Given the description of an element on the screen output the (x, y) to click on. 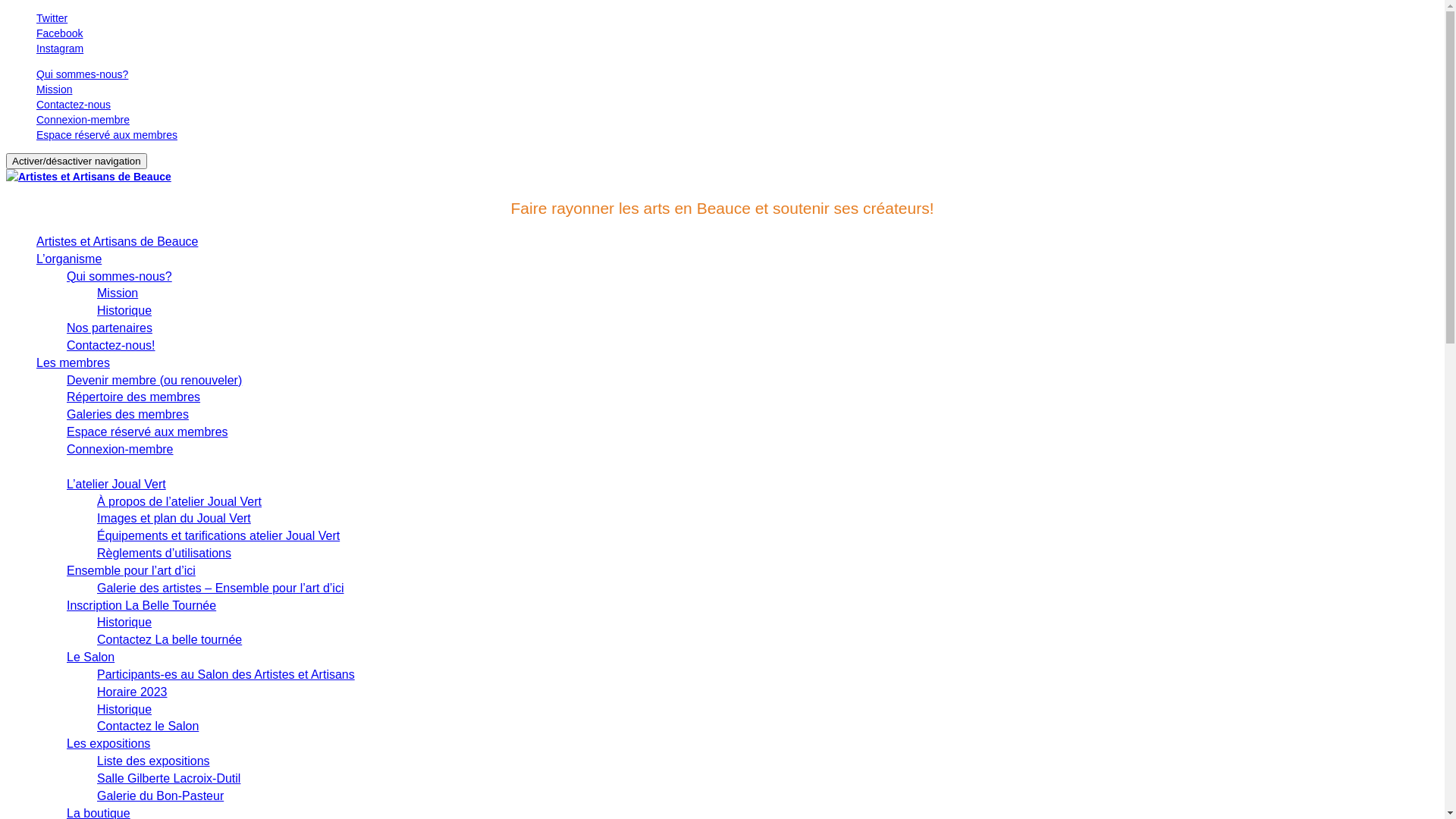
Horaire 2023 Element type: text (132, 691)
Connexion-membre Element type: text (119, 448)
Les membres Element type: text (72, 362)
Historique Element type: text (124, 708)
Liste des expositions Element type: text (153, 760)
Galeries des membres Element type: text (127, 413)
Artistes et Artisans de Beauce Element type: hover (88, 176)
Contactez le Salon Element type: text (147, 725)
Mission Element type: text (117, 292)
Contactez-nous Element type: text (73, 104)
Mission Element type: text (54, 89)
Nos partenaires Element type: text (109, 327)
Connexion-membre Element type: text (82, 119)
Contactez-nous! Element type: text (110, 344)
Twitter Element type: text (737, 17)
Historique Element type: text (124, 621)
Galerie du Bon-Pasteur Element type: text (160, 795)
Qui sommes-nous? Element type: text (82, 74)
Artistes et Artisans de Beauce Element type: text (116, 241)
Participants-es au Salon des Artistes et Artisans Element type: text (225, 674)
Instagram Element type: text (737, 48)
Qui sommes-nous? Element type: text (119, 275)
Les expositions Element type: text (108, 743)
Facebook Element type: text (737, 32)
Historique Element type: text (124, 310)
Salle Gilberte Lacroix-Dutil Element type: text (168, 777)
Devenir membre (ou renouveler) Element type: text (153, 379)
Le Salon Element type: text (90, 656)
Images et plan du Joual Vert Element type: text (174, 517)
